Given the description of an element on the screen output the (x, y) to click on. 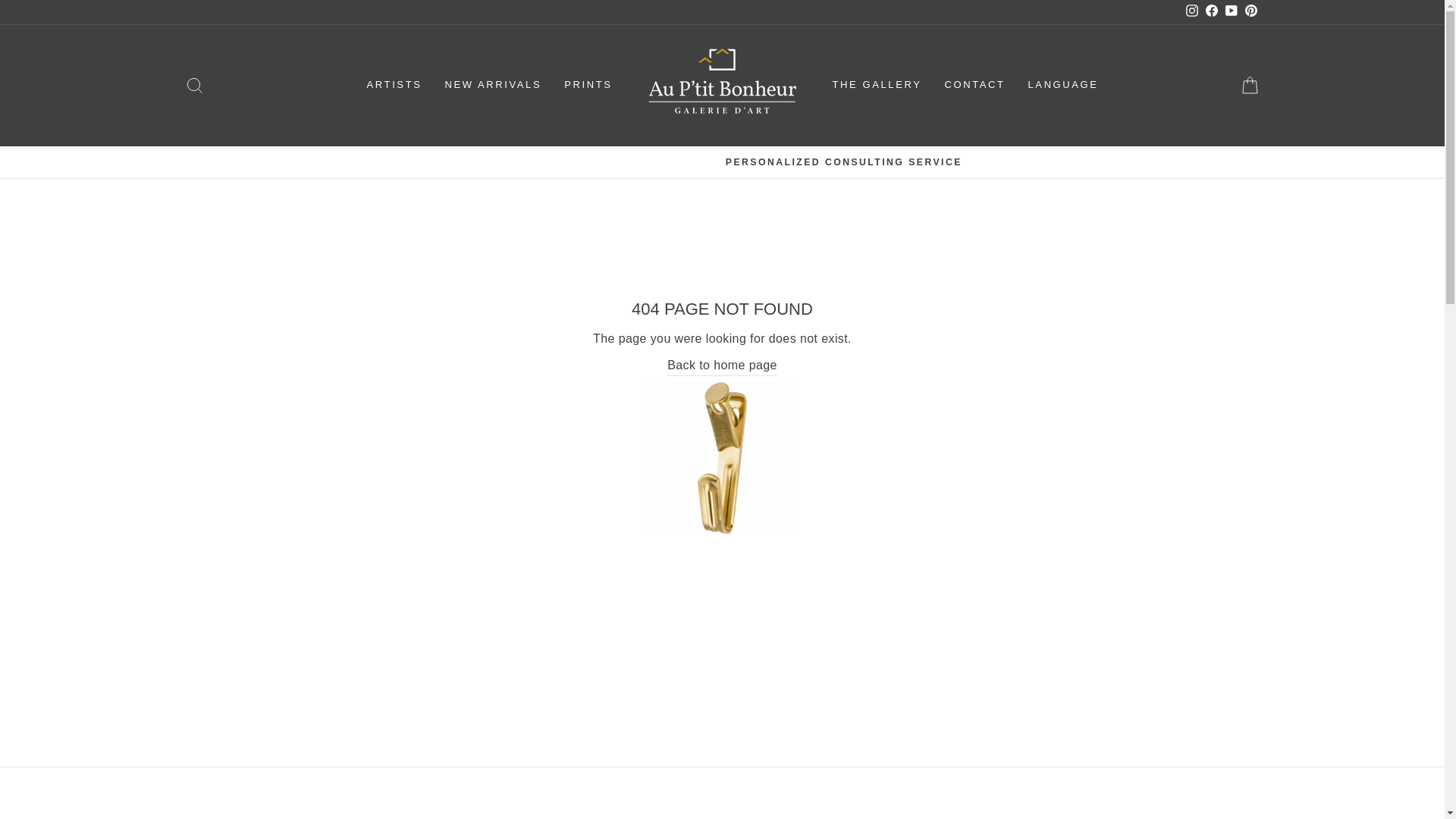
ARTISTS (394, 85)
NEW ARRIVALS (492, 85)
SEARCH (194, 84)
